Given the description of an element on the screen output the (x, y) to click on. 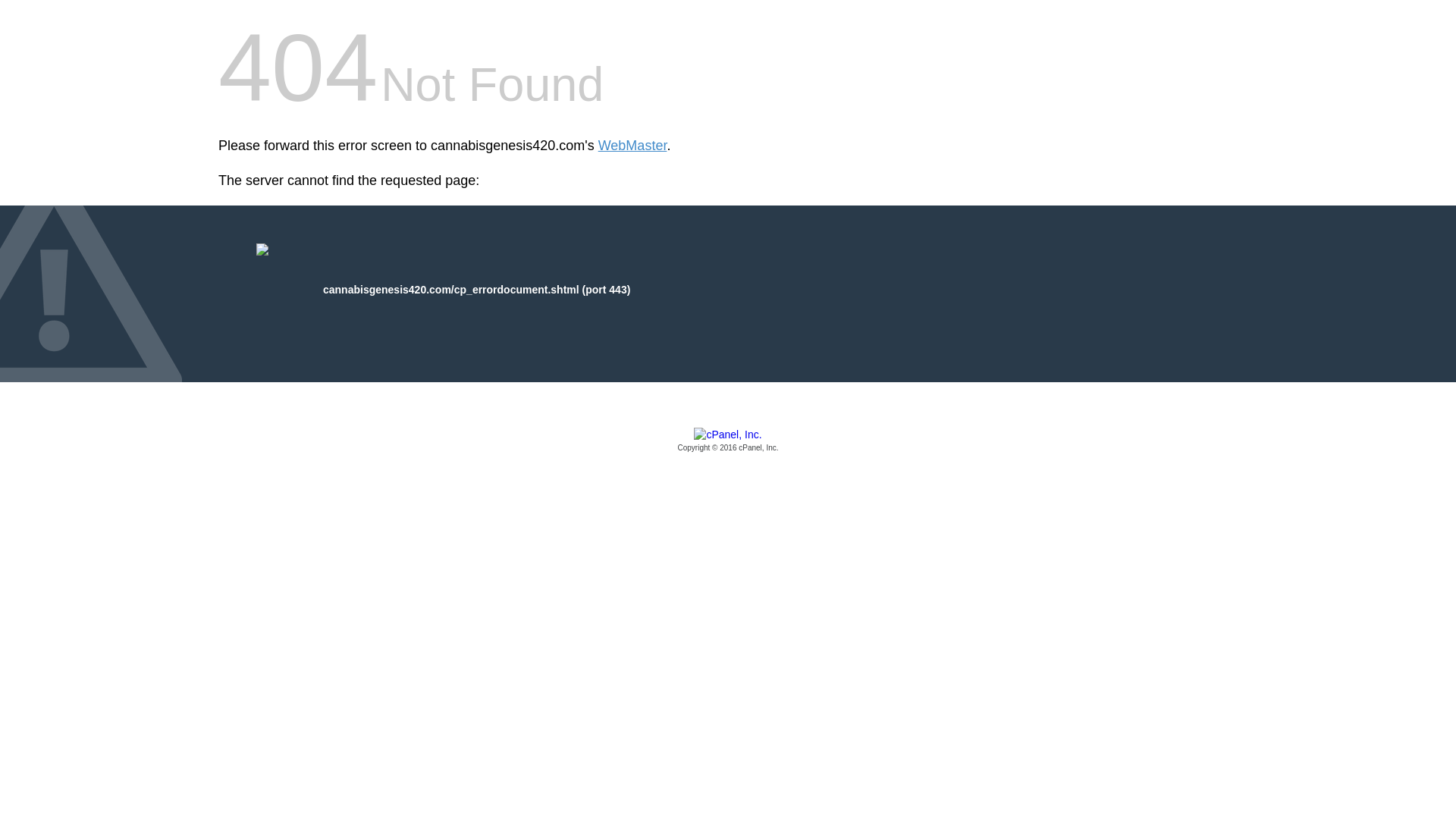
cPanel, Inc. (727, 440)
WebMaster (632, 145)
